Given the description of an element on the screen output the (x, y) to click on. 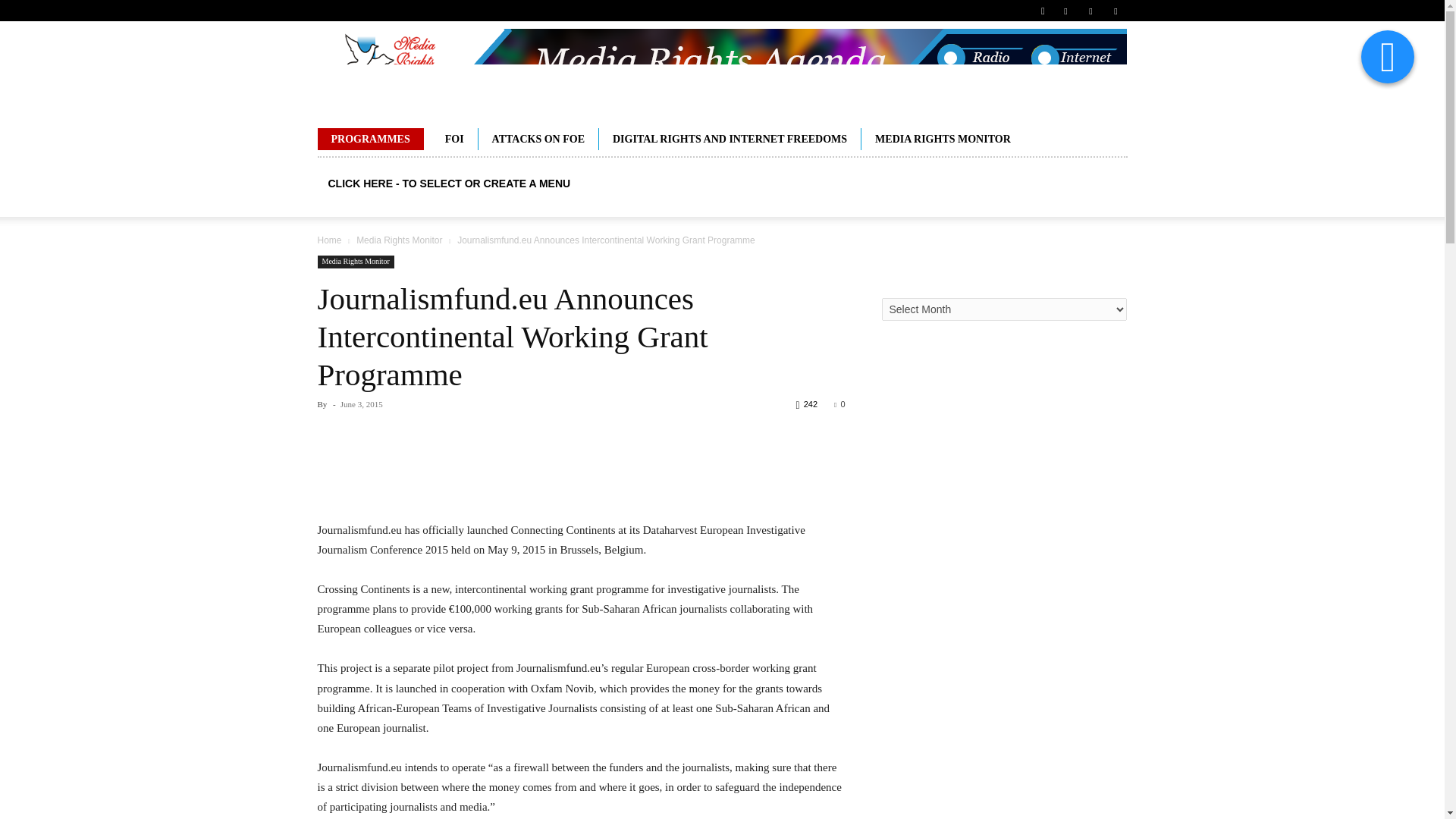
Search (1085, 64)
Twitter (1114, 10)
Facebook (1065, 10)
PROGRAMMES (370, 138)
DIGITAL RIGHTS AND INTERNET FREEDOMS (729, 138)
Media Rights Agenda Logo (721, 68)
ATTACKS ON FOE (538, 138)
View all posts in Media Rights Monitor (399, 240)
FOI (453, 138)
Linkedin (1090, 10)
